Given the description of an element on the screen output the (x, y) to click on. 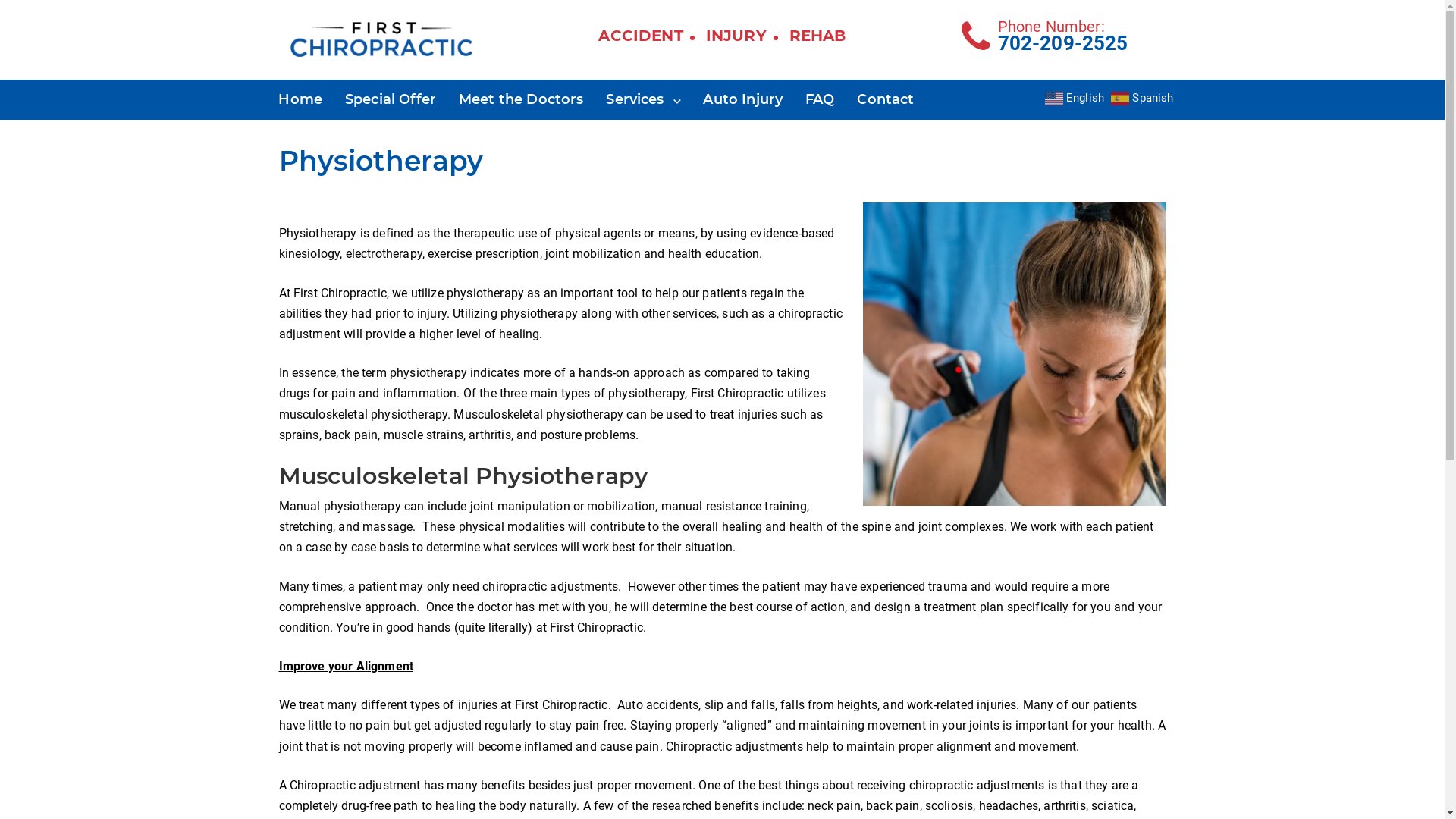
English Element type: text (1075, 97)
702-209-2525 Element type: text (1062, 42)
Home Element type: text (299, 98)
Special Offer Element type: text (390, 98)
FAQ Element type: text (819, 98)
Meet the Doctors Element type: text (520, 98)
Auto Injury Element type: text (743, 98)
Spanish Element type: text (1143, 97)
Contact Element type: text (885, 98)
Services Element type: text (642, 98)
